Given the description of an element on the screen output the (x, y) to click on. 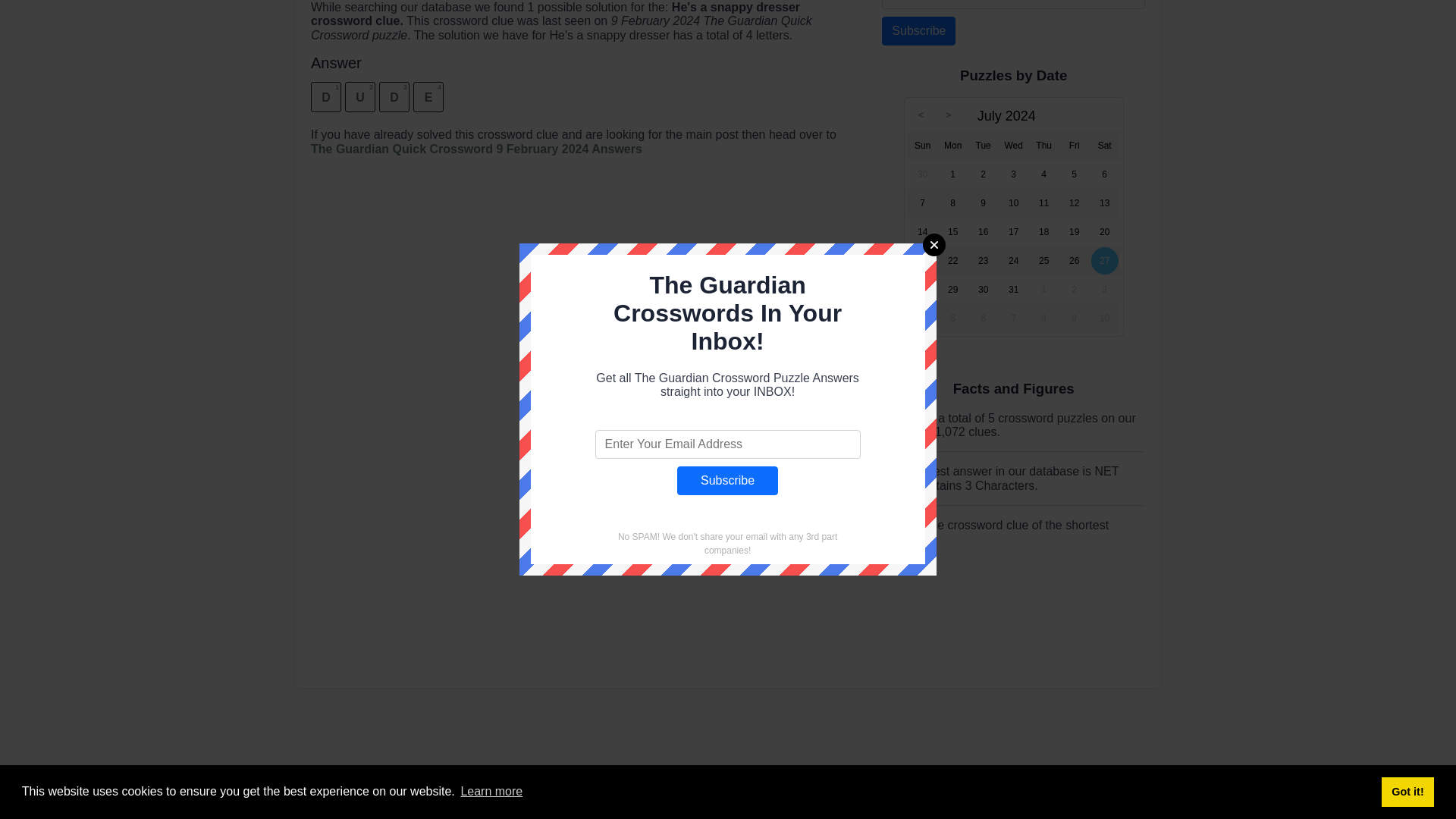
Subscribe (727, 182)
Learn more (491, 493)
The Guardian Quick Crossword 9 February 2024 Answers (476, 148)
Subscribe (727, 182)
Mesh (896, 524)
Subscribe (918, 30)
Subscribe (918, 30)
Got it! (1407, 493)
